Given the description of an element on the screen output the (x, y) to click on. 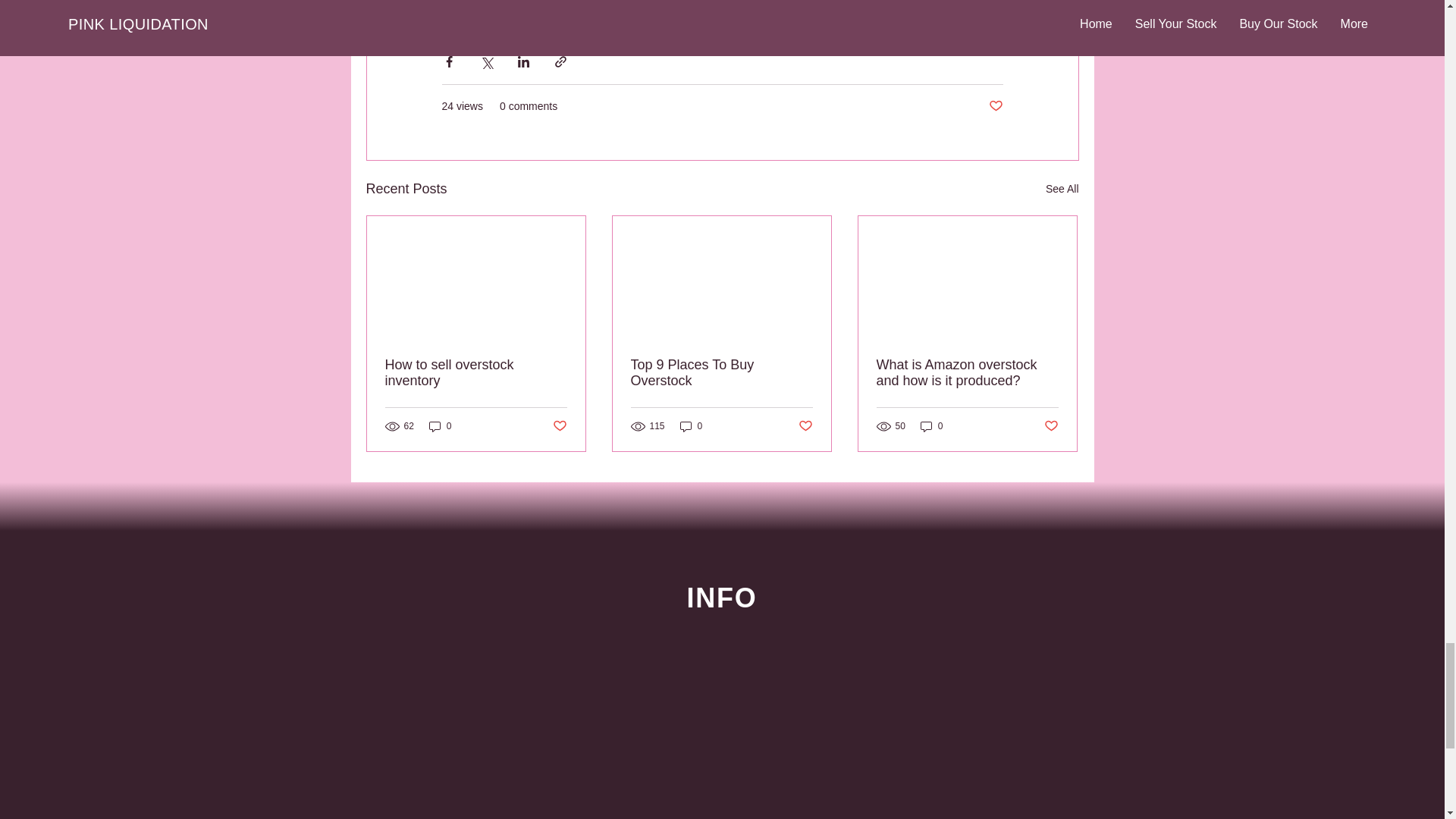
Post not marked as liked (995, 106)
Post not marked as liked (1050, 426)
Post not marked as liked (804, 426)
0 (931, 426)
0 (691, 426)
0 (440, 426)
Post not marked as liked (558, 426)
See All (1061, 188)
What is Amazon overstock and how is it produced? (967, 373)
Top 9 Places To Buy Overstock (721, 373)
How to sell overstock inventory (476, 373)
